Given the description of an element on the screen output the (x, y) to click on. 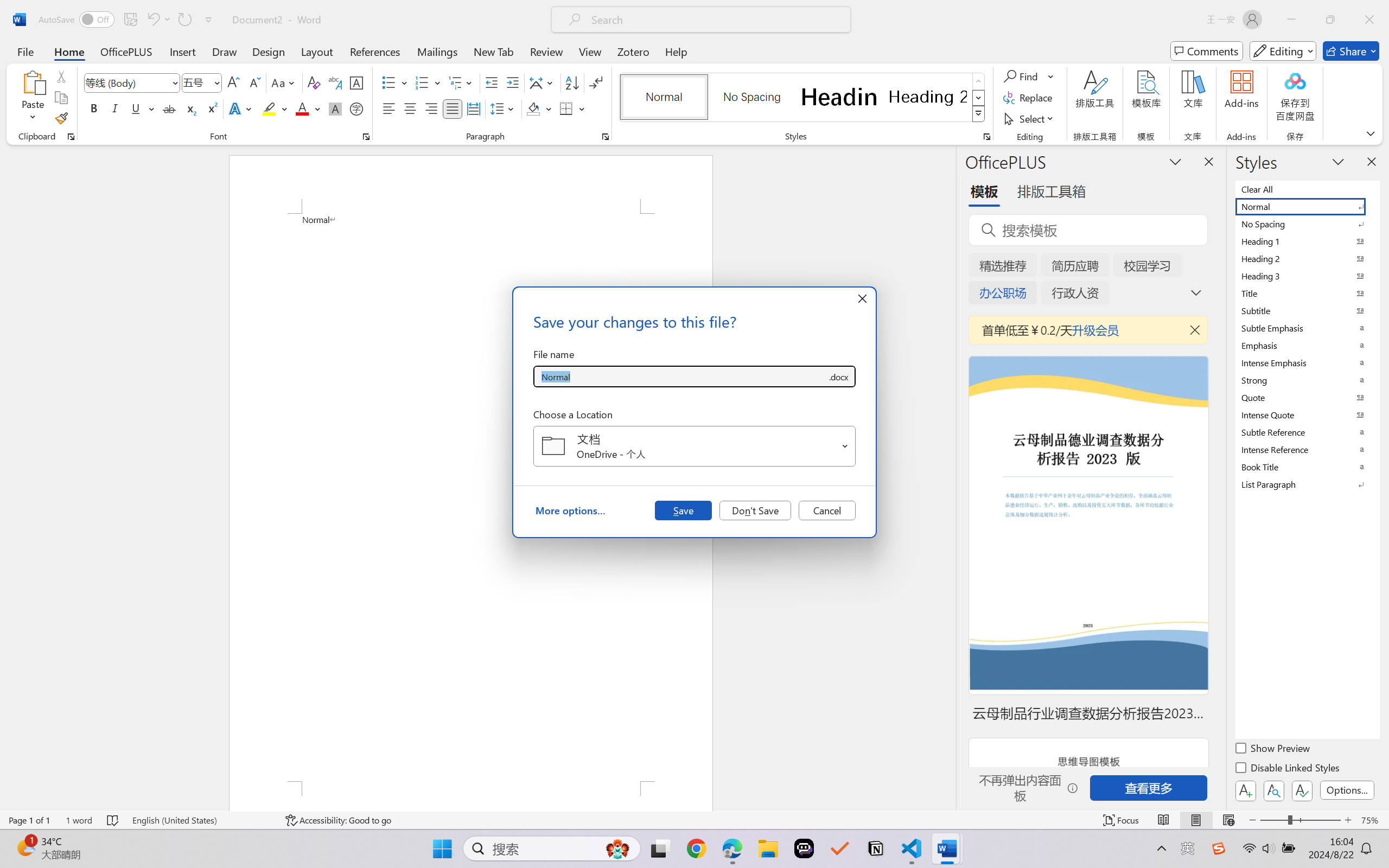
Asian Layout (542, 82)
Quick Access Toolbar (127, 19)
Text Highlight Color Yellow (269, 108)
Italic (115, 108)
Font Color (308, 108)
Office Clipboard... (70, 136)
Align Right (431, 108)
Design (268, 51)
Character Shading (334, 108)
List Paragraph (1306, 484)
Close (1369, 19)
Choose a Location (694, 446)
Underline (135, 108)
